Given the description of an element on the screen output the (x, y) to click on. 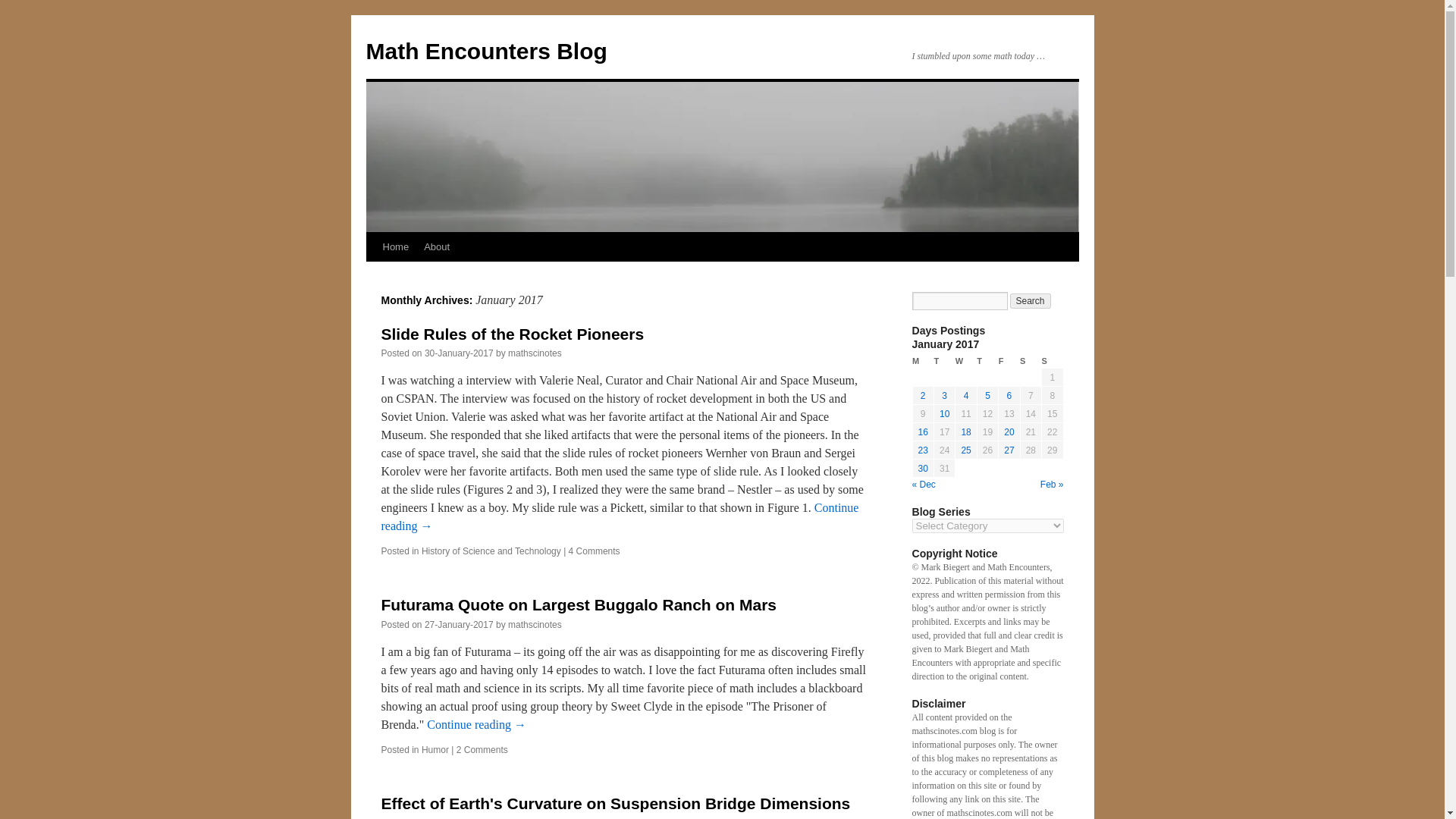
Skip to content (372, 274)
mathscinotes (535, 353)
7:46 am (459, 353)
History of Science and Technology (491, 551)
About (436, 246)
Search (1030, 300)
4 Comments (594, 551)
View all posts by mathscinotes (535, 353)
6:55 am (459, 624)
Math Encounters Blog (486, 50)
Futurama Quote on Largest Buggalo Ranch on Mars (578, 604)
mathscinotes (535, 624)
27-January-2017 (459, 624)
Effect of Earth's Curvature on Suspension Bridge Dimensions (615, 803)
Humor (435, 749)
